Given the description of an element on the screen output the (x, y) to click on. 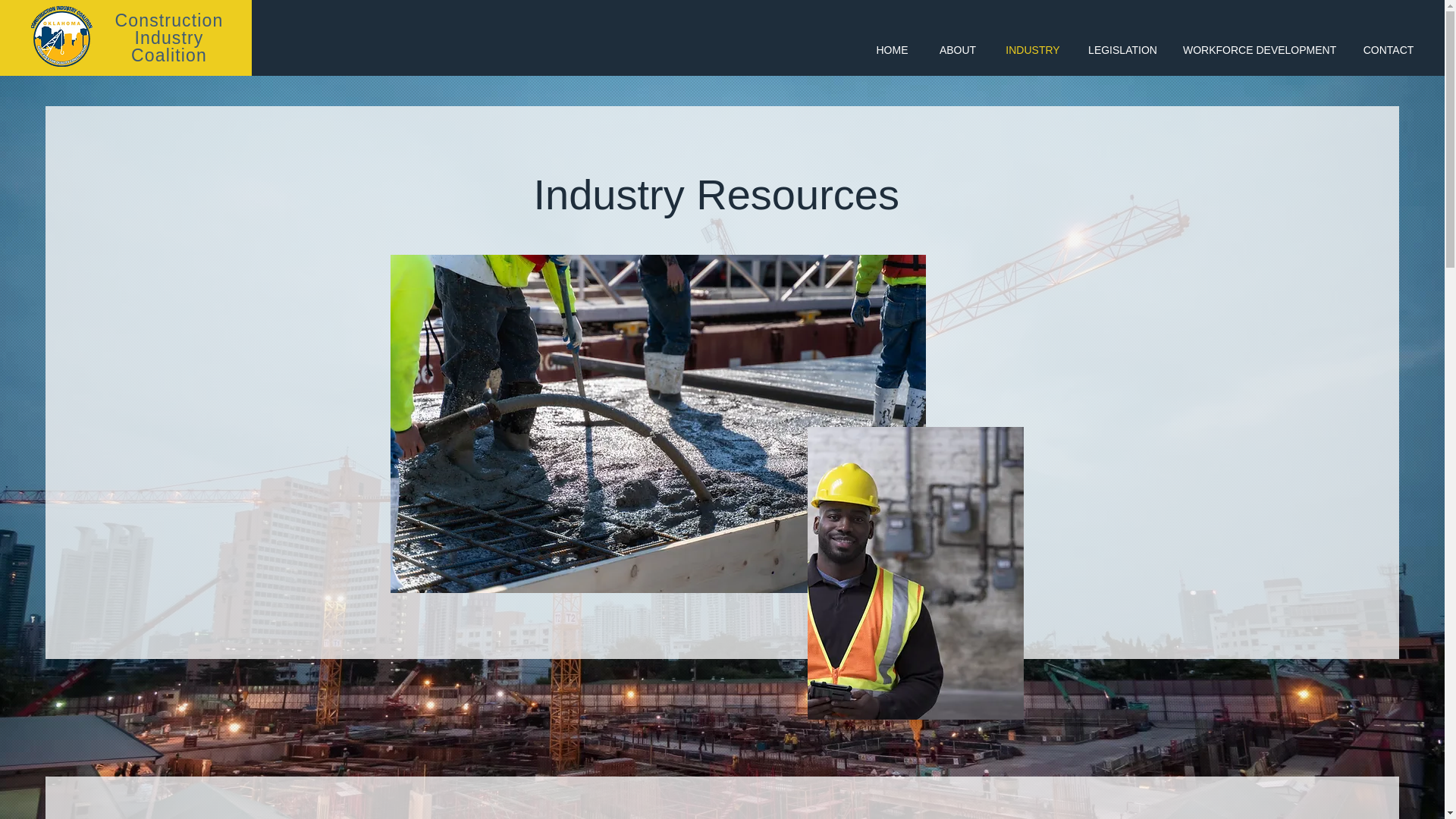
LEGISLATION (1123, 50)
WORKFORCE DEVELOPMENT (1260, 50)
ABOUT (169, 37)
HOME (957, 50)
CONTACT (891, 50)
INDUSTRY (1388, 50)
